Given the description of an element on the screen output the (x, y) to click on. 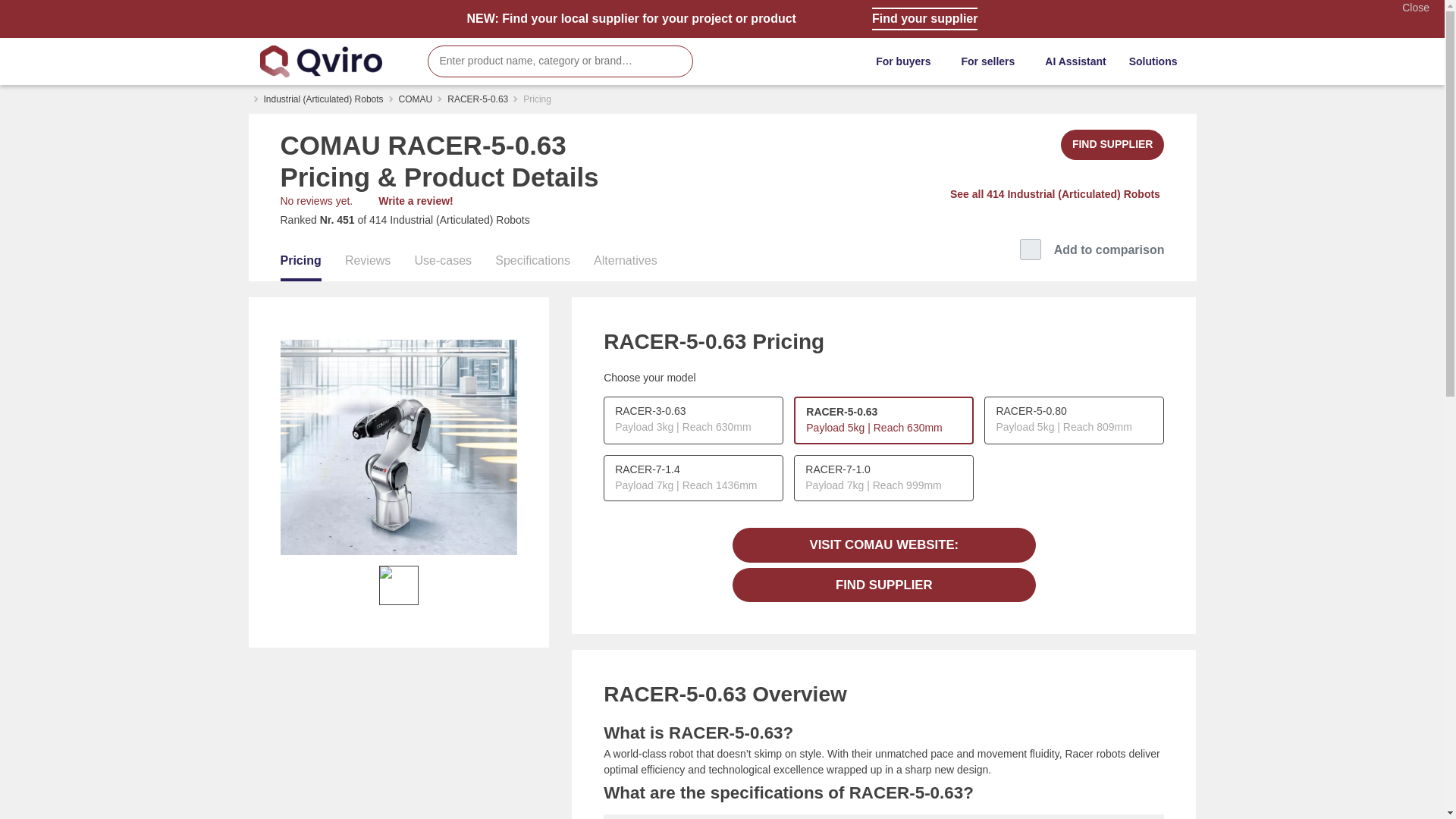
Close (1415, 7)
FIND SUPPLIER (1112, 144)
Specifications (532, 262)
NEW: Find your local supplier for your project or product (631, 19)
No reviews yet. (317, 201)
Pricing (301, 262)
RACER-5-0.63 (477, 99)
Solutions (1157, 60)
Use-cases (442, 262)
For sellers (991, 60)
